Given the description of an element on the screen output the (x, y) to click on. 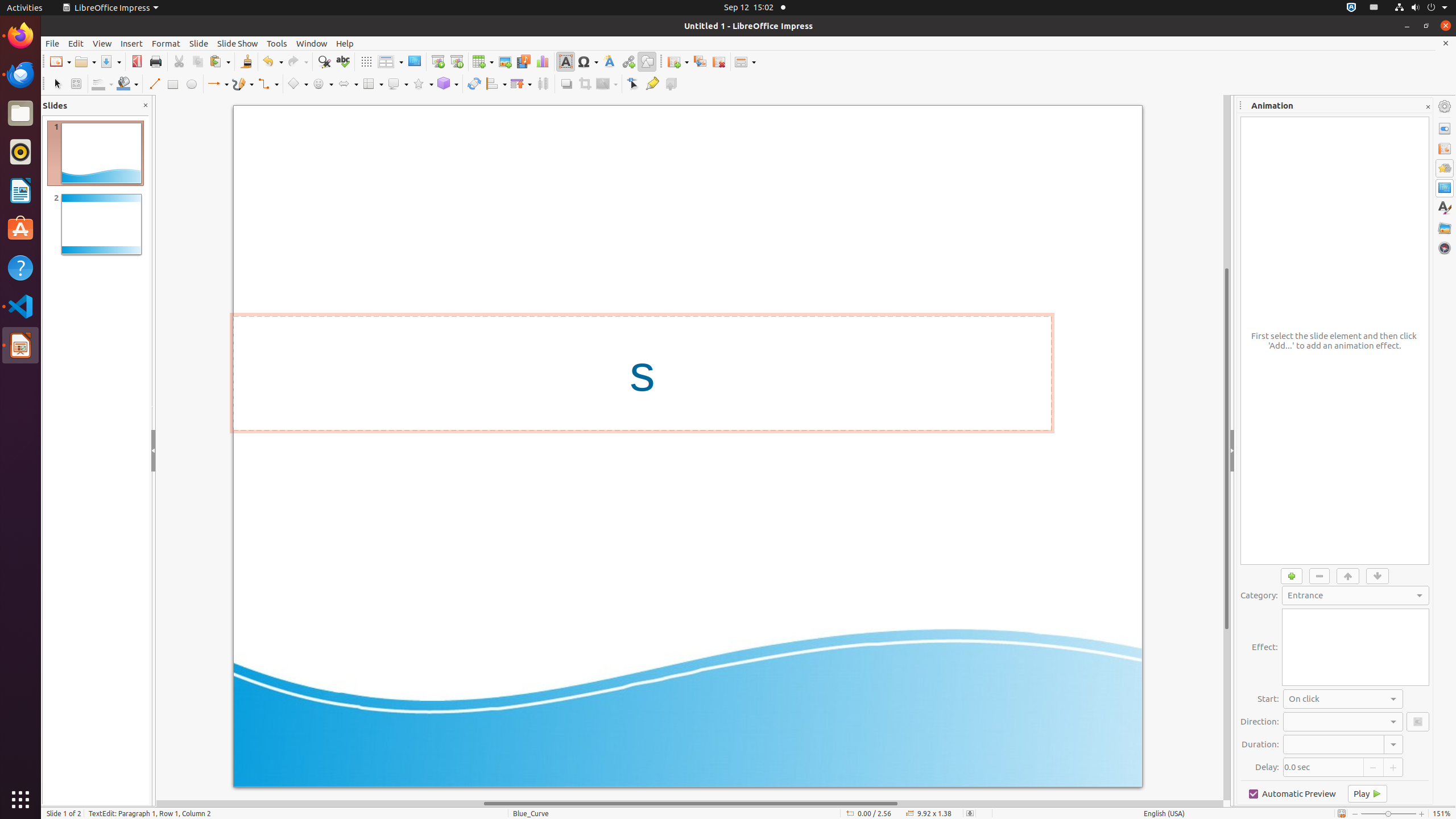
Category: Element type: combo-box (1355, 595)
Filter Element type: push-button (606, 83)
Crop Element type: push-button (584, 83)
Rhythmbox Element type: push-button (20, 151)
Line Element type: push-button (153, 83)
